Given the description of an element on the screen output the (x, y) to click on. 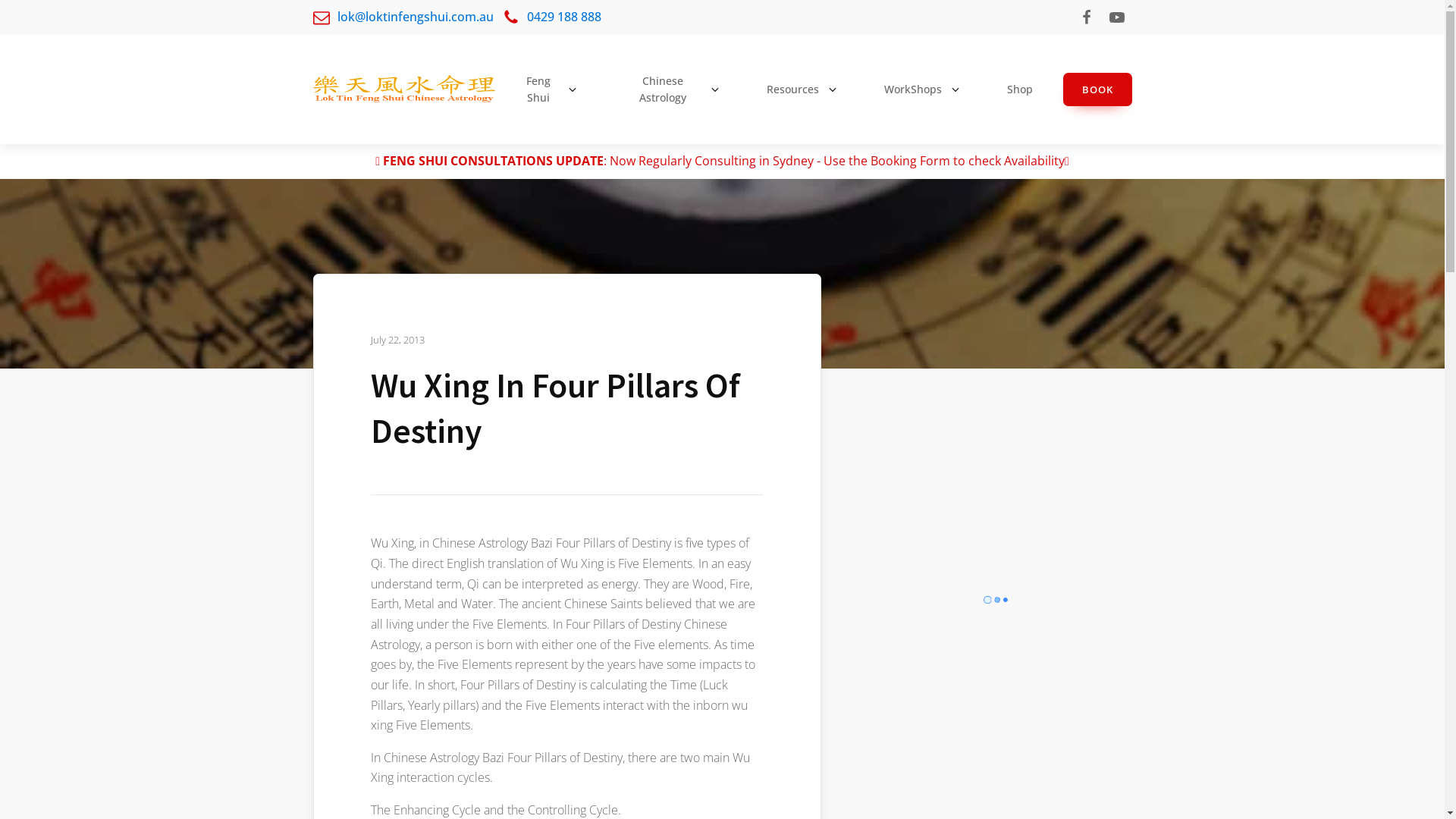
0429 188 888 Element type: text (551, 17)
Shop Element type: text (1023, 89)
lok@loktinfengshui.com.au Element type: text (402, 17)
BOOK Element type: text (1097, 89)
